Given the description of an element on the screen output the (x, y) to click on. 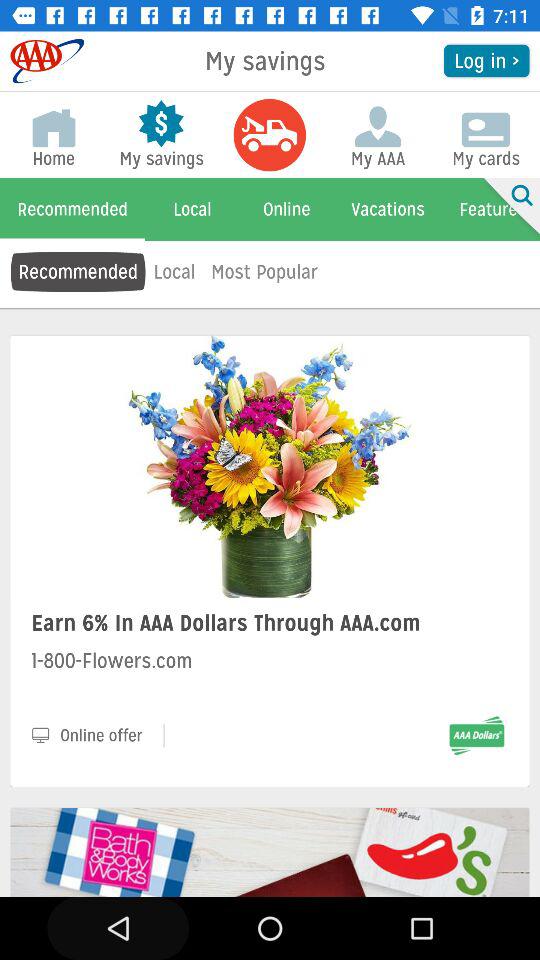
open the icon to the right of my savings (486, 60)
